Given the description of an element on the screen output the (x, y) to click on. 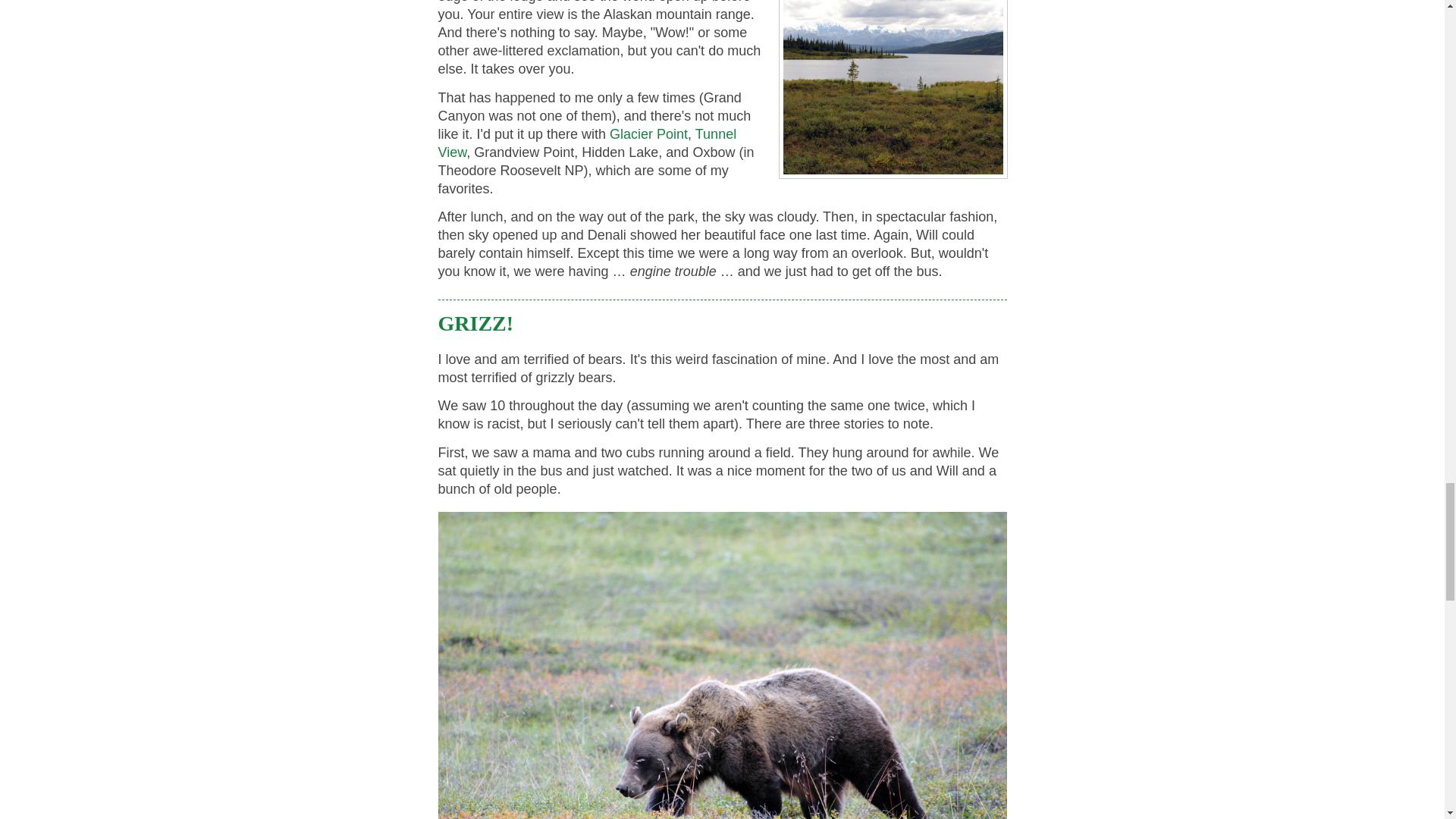
Tunnel View (587, 142)
Glacier Point (648, 133)
